Given the description of an element on the screen output the (x, y) to click on. 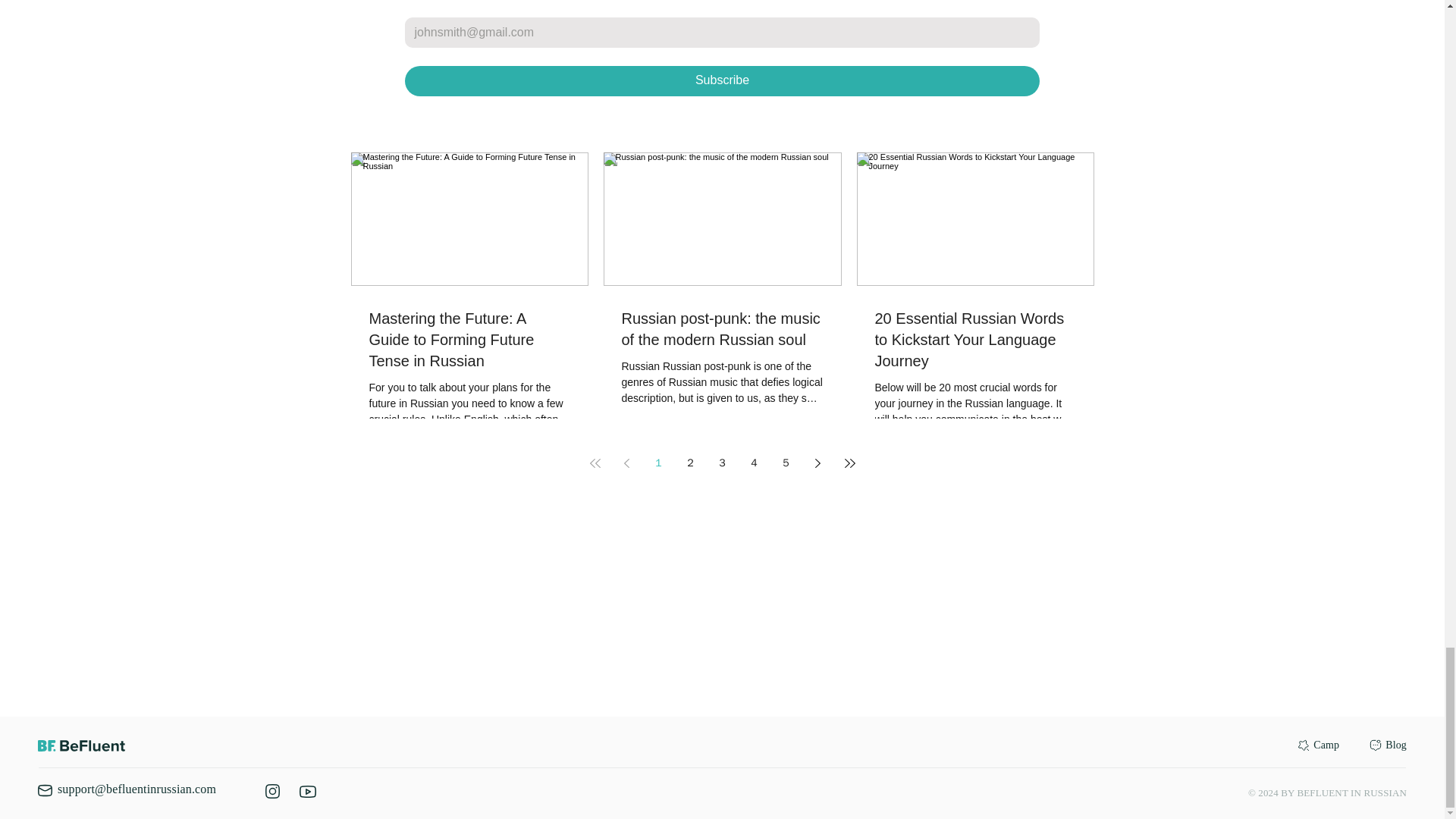
3 (721, 462)
4 (753, 462)
Camp (1326, 745)
Subscribe (721, 81)
2 (690, 462)
Russian post-punk: the music of the modern Russian soul (722, 328)
5 (785, 462)
Blog (1396, 745)
